Given the description of an element on the screen output the (x, y) to click on. 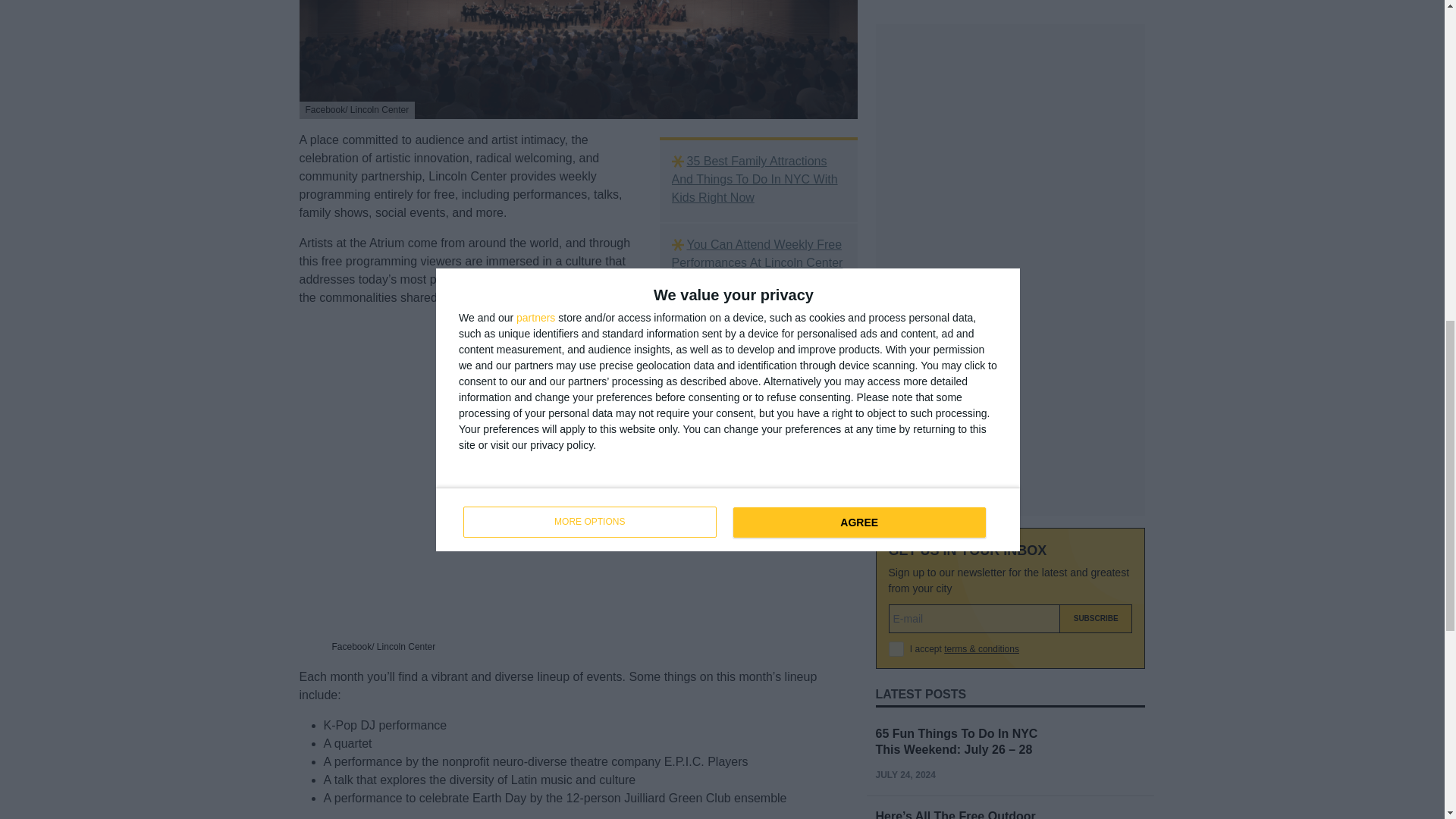
Subscribe (1095, 340)
JULY 23, 2024 (904, 596)
JULY 23, 2024 (904, 696)
You Can Attend Weekly Free Performances At Lincoln Center (758, 253)
JULY 24, 2024 (904, 497)
Subscribe (1095, 340)
1 (896, 371)
